Given the description of an element on the screen output the (x, y) to click on. 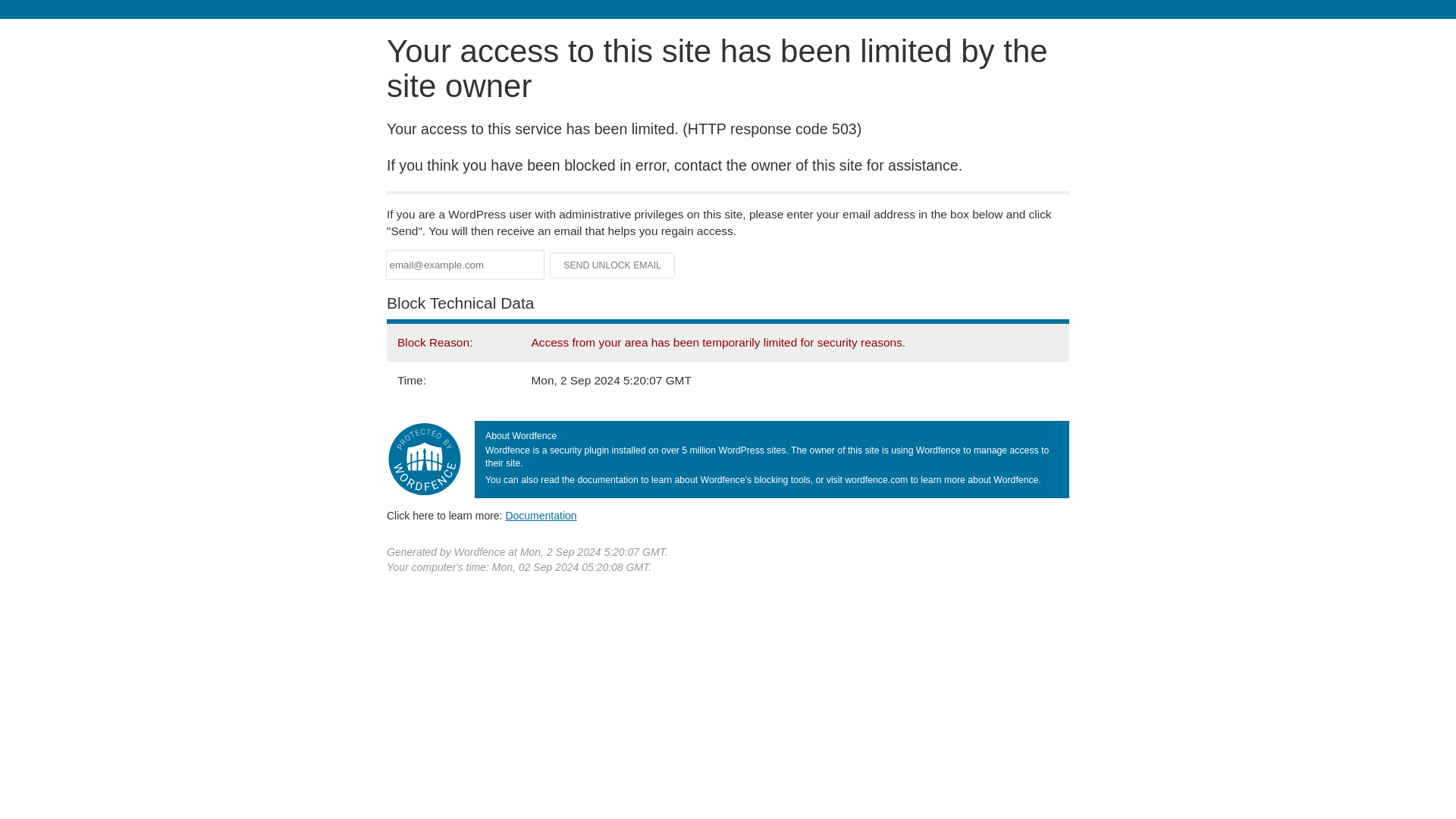
Send Unlock Email (612, 265)
Documentation (540, 515)
Send Unlock Email (612, 265)
